Given the description of an element on the screen output the (x, y) to click on. 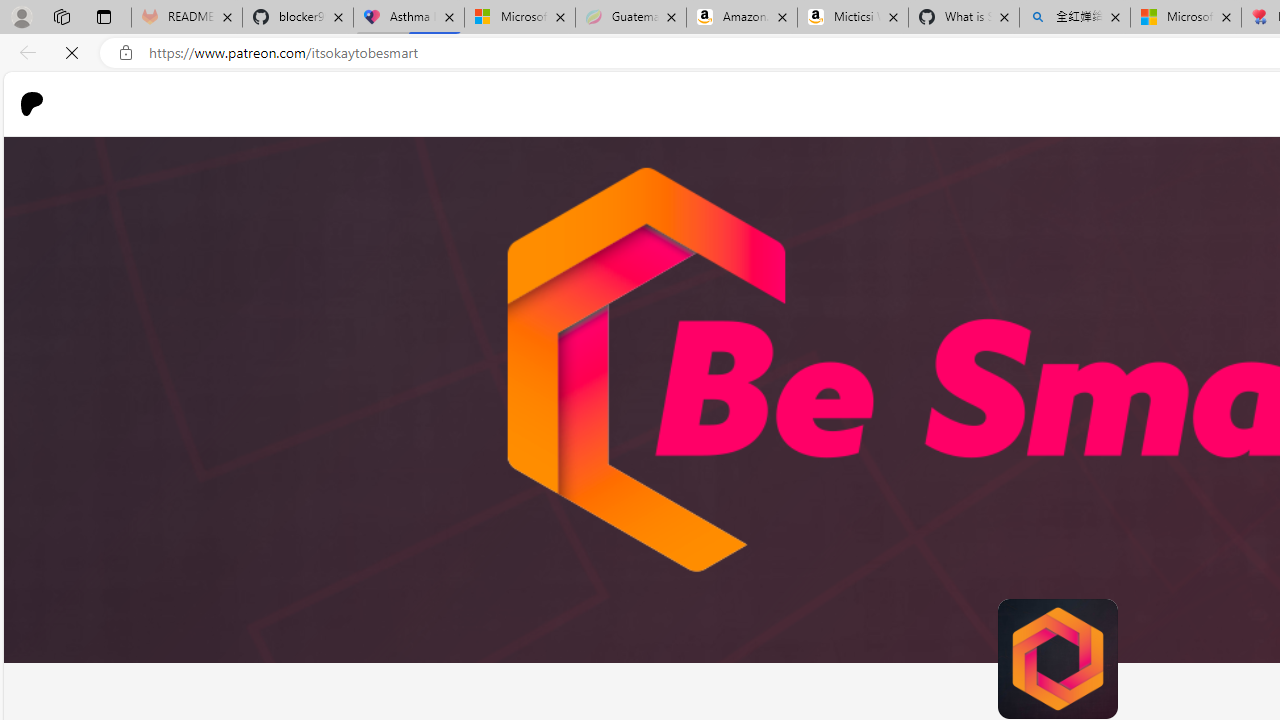
Patreon logo (31, 103)
Go to home page (40, 103)
